Given the description of an element on the screen output the (x, y) to click on. 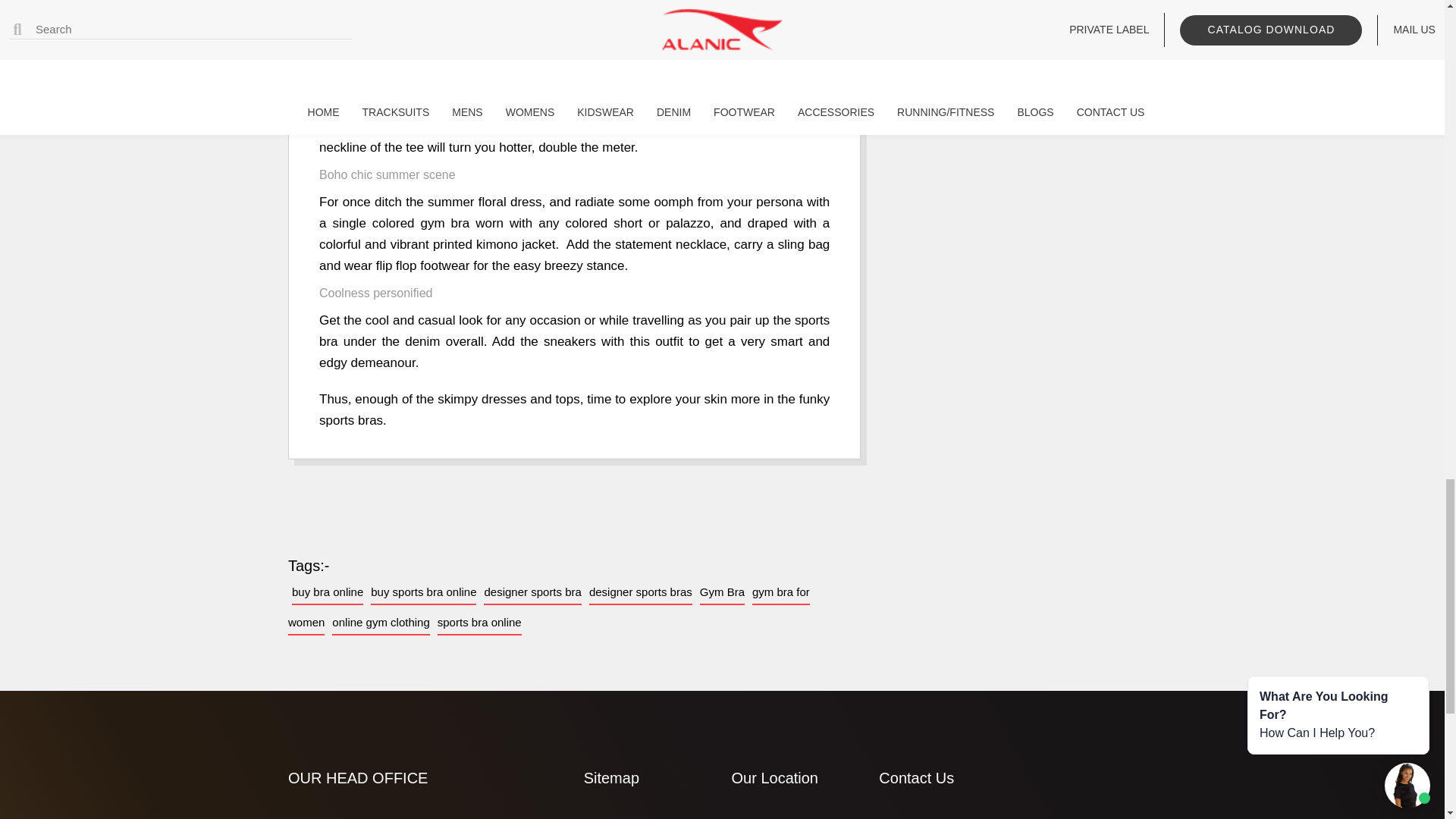
sports bra online (479, 622)
buy bra online (327, 592)
Gym Bra (722, 592)
buy sports bra online (423, 592)
designer sports bra (531, 592)
gym bra for women (548, 607)
online gym clothing (380, 622)
designer sports bras (641, 592)
